Given the description of an element on the screen output the (x, y) to click on. 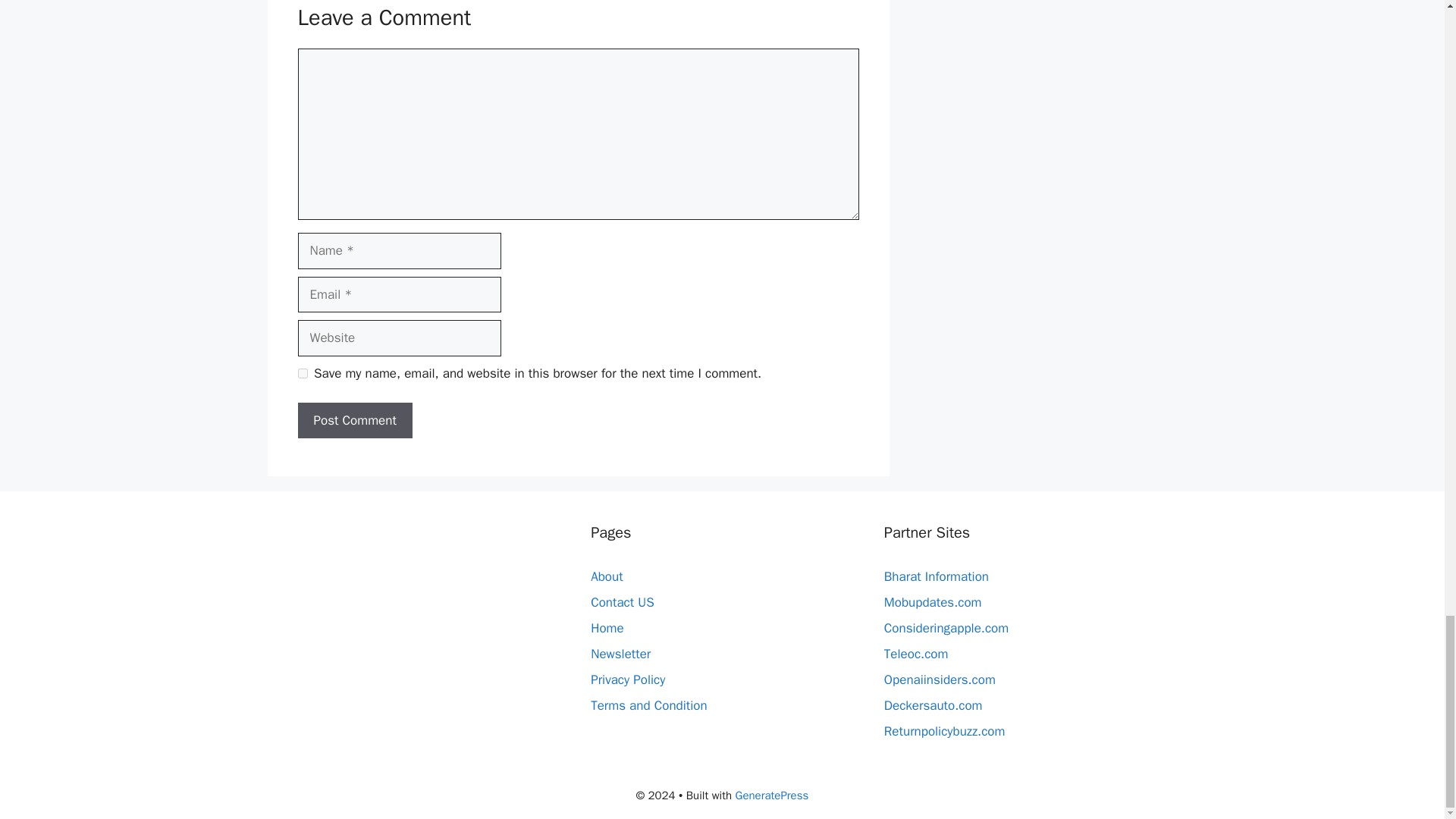
Post Comment (354, 420)
yes (302, 373)
Post Comment (354, 420)
